Given the description of an element on the screen output the (x, y) to click on. 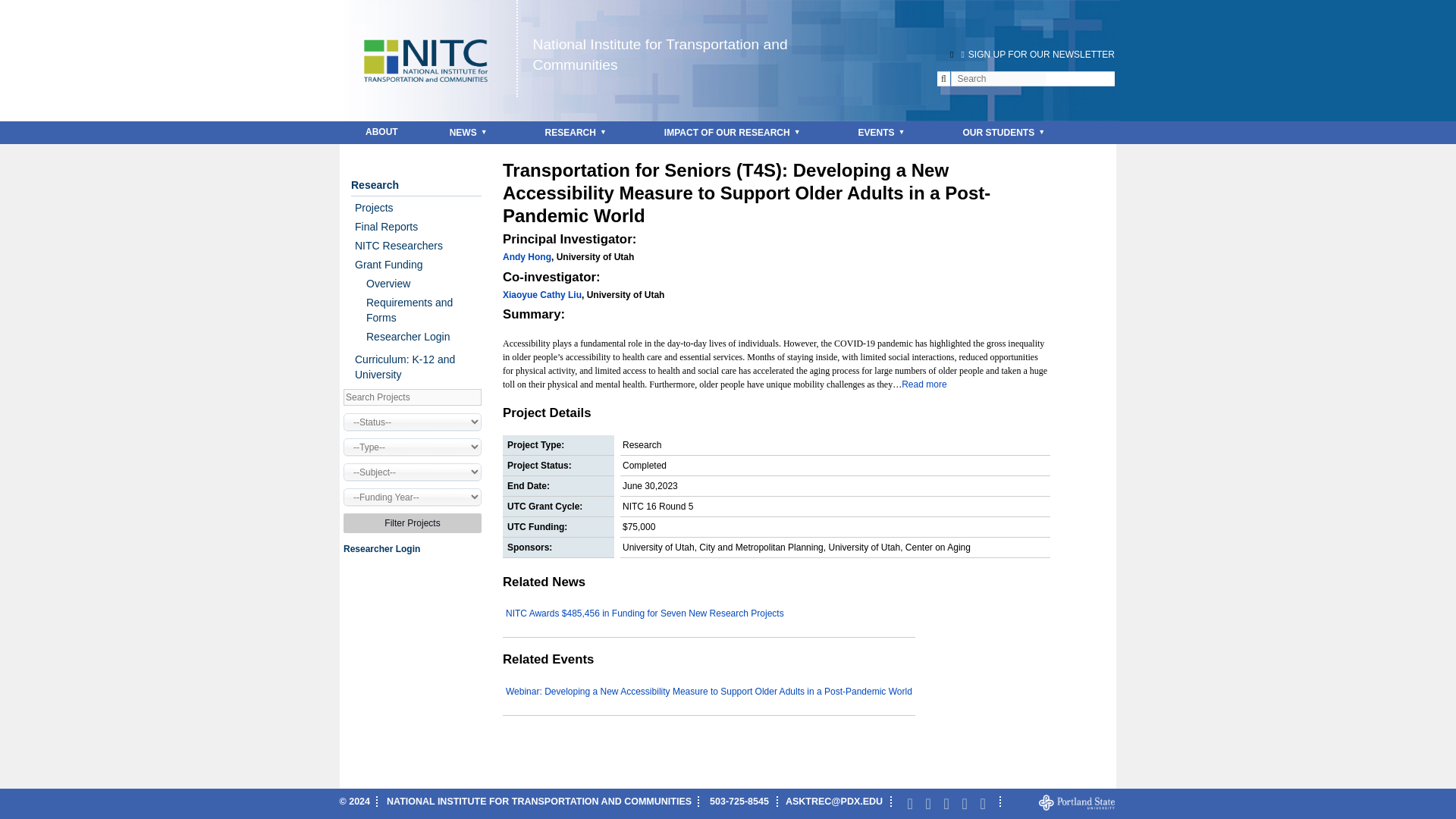
RESEARCH (578, 132)
SIGN UP FOR OUR NEWSLETTER (1035, 54)
ABOUT (381, 132)
National Institute for Transportation and Communities (659, 54)
Search (28, 9)
Filter Projects (412, 523)
NEWS (471, 132)
Home (659, 54)
Enter the terms you wish to search for. (1000, 78)
EVENTS (885, 132)
